Given the description of an element on the screen output the (x, y) to click on. 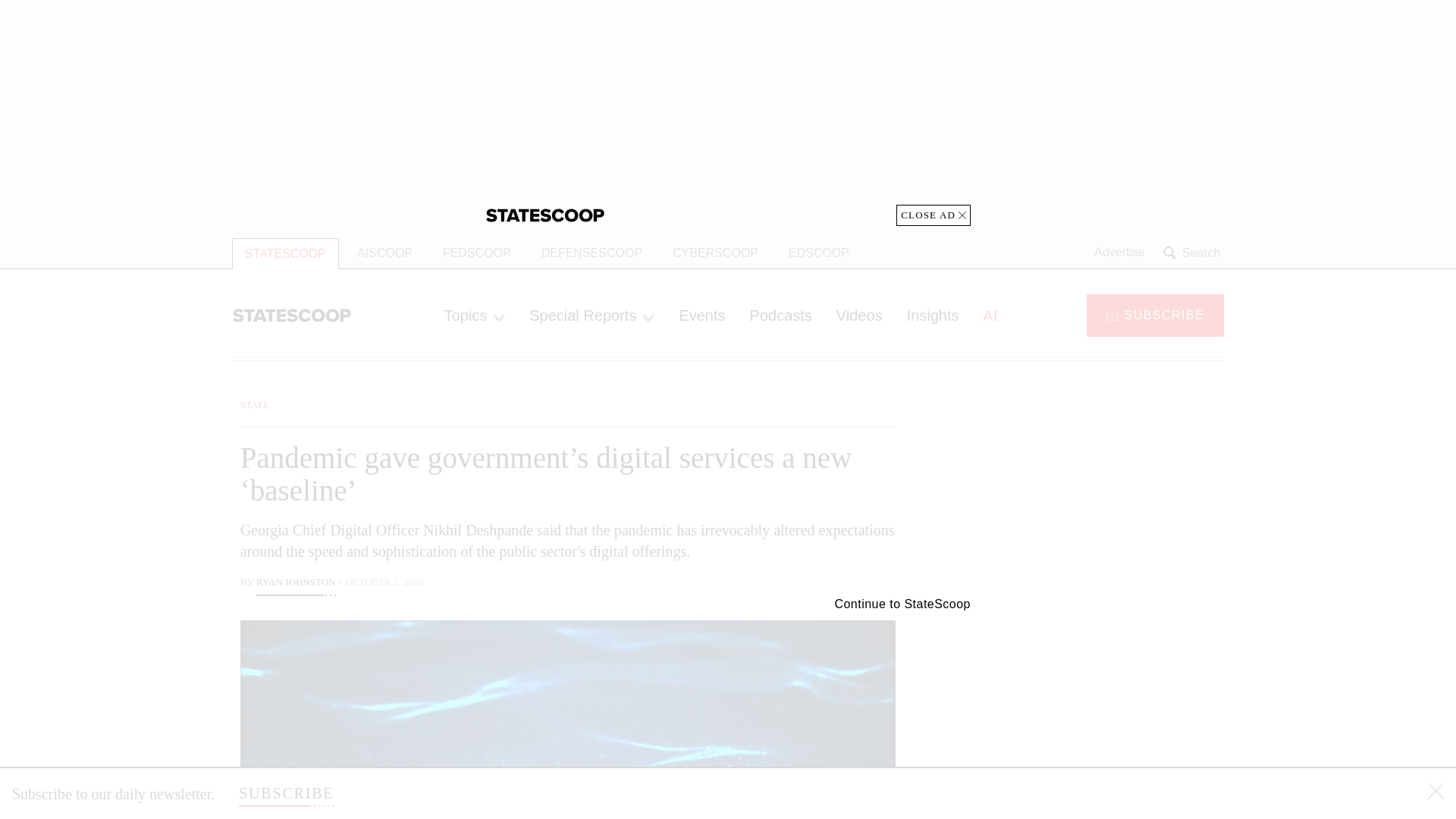
DEFENSESCOOP (591, 253)
AI (990, 315)
3rd party ad content (1101, 492)
Special Reports (591, 315)
EDSCOOP (818, 253)
Search (1193, 252)
Events (701, 315)
FEDSCOOP (476, 253)
Topics (475, 315)
AISCOOP (385, 253)
3rd party ad content (1101, 705)
Ryan Johnston (296, 583)
